Given the description of an element on the screen output the (x, y) to click on. 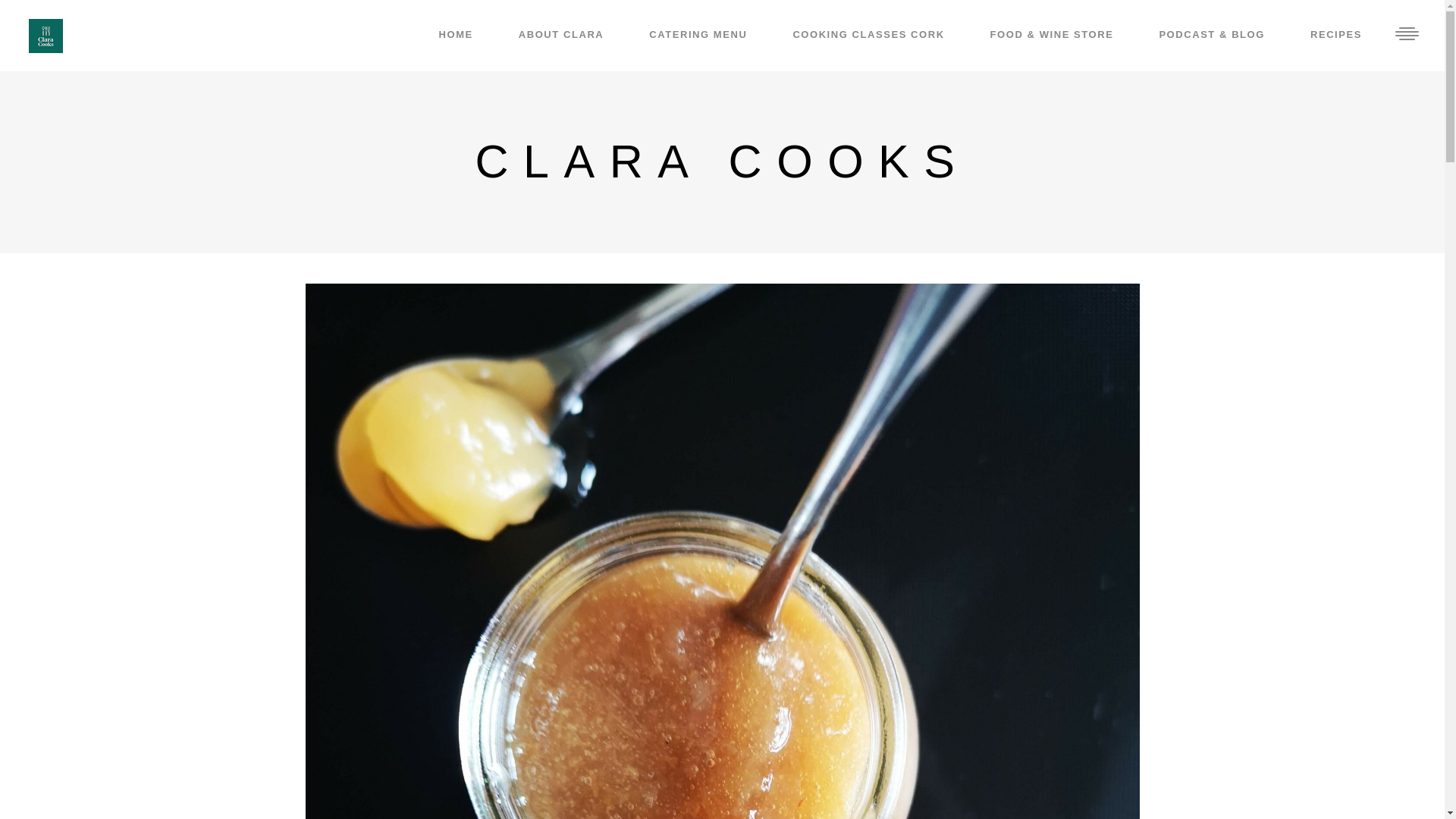
HOME (456, 35)
COOKING CLASSES CORK (868, 35)
ABOUT CLARA (561, 35)
RECIPES (1335, 35)
CATERING MENU (698, 35)
